Given the description of an element on the screen output the (x, y) to click on. 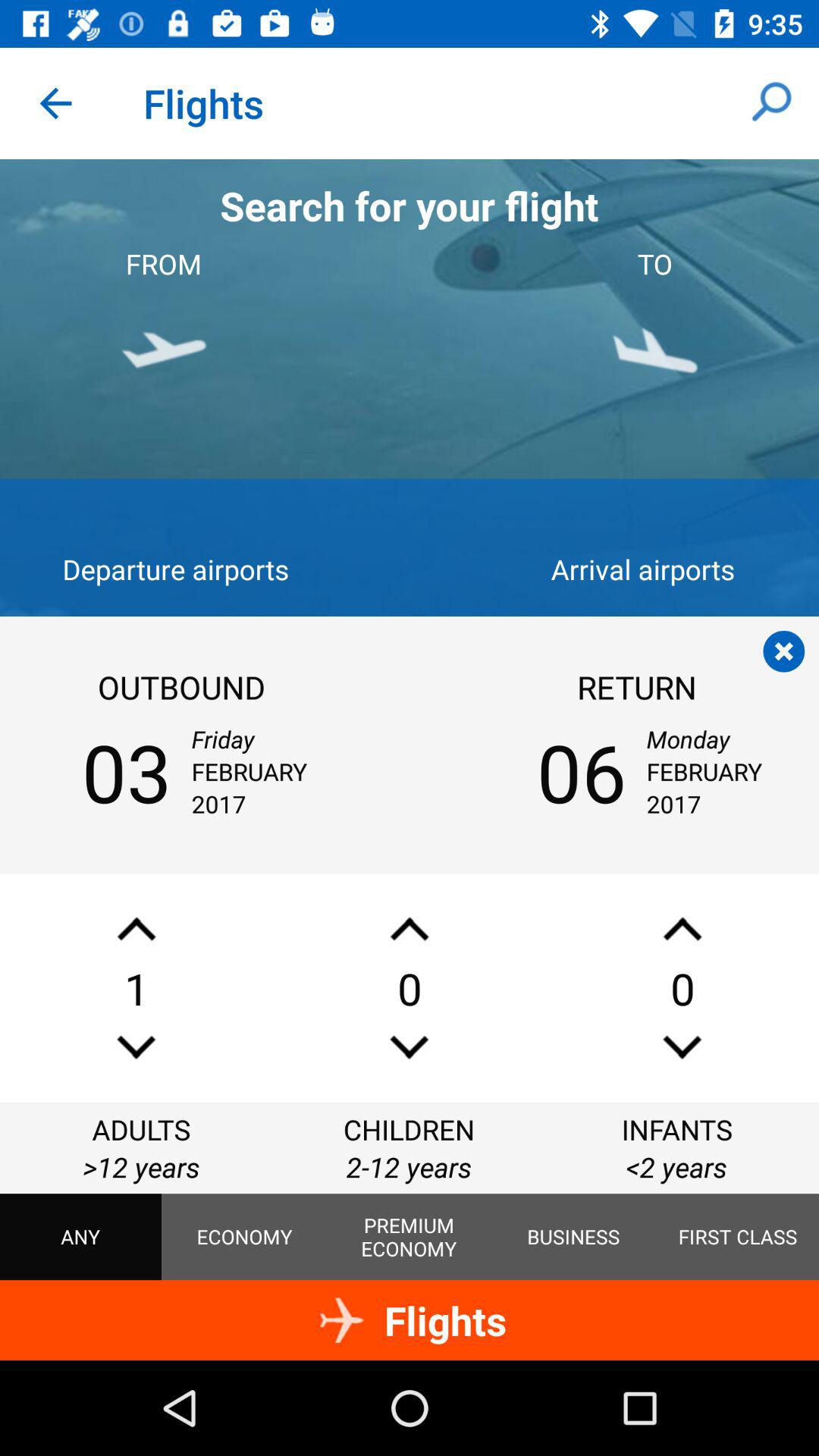
launch the premium economy item (409, 1236)
